Given the description of an element on the screen output the (x, y) to click on. 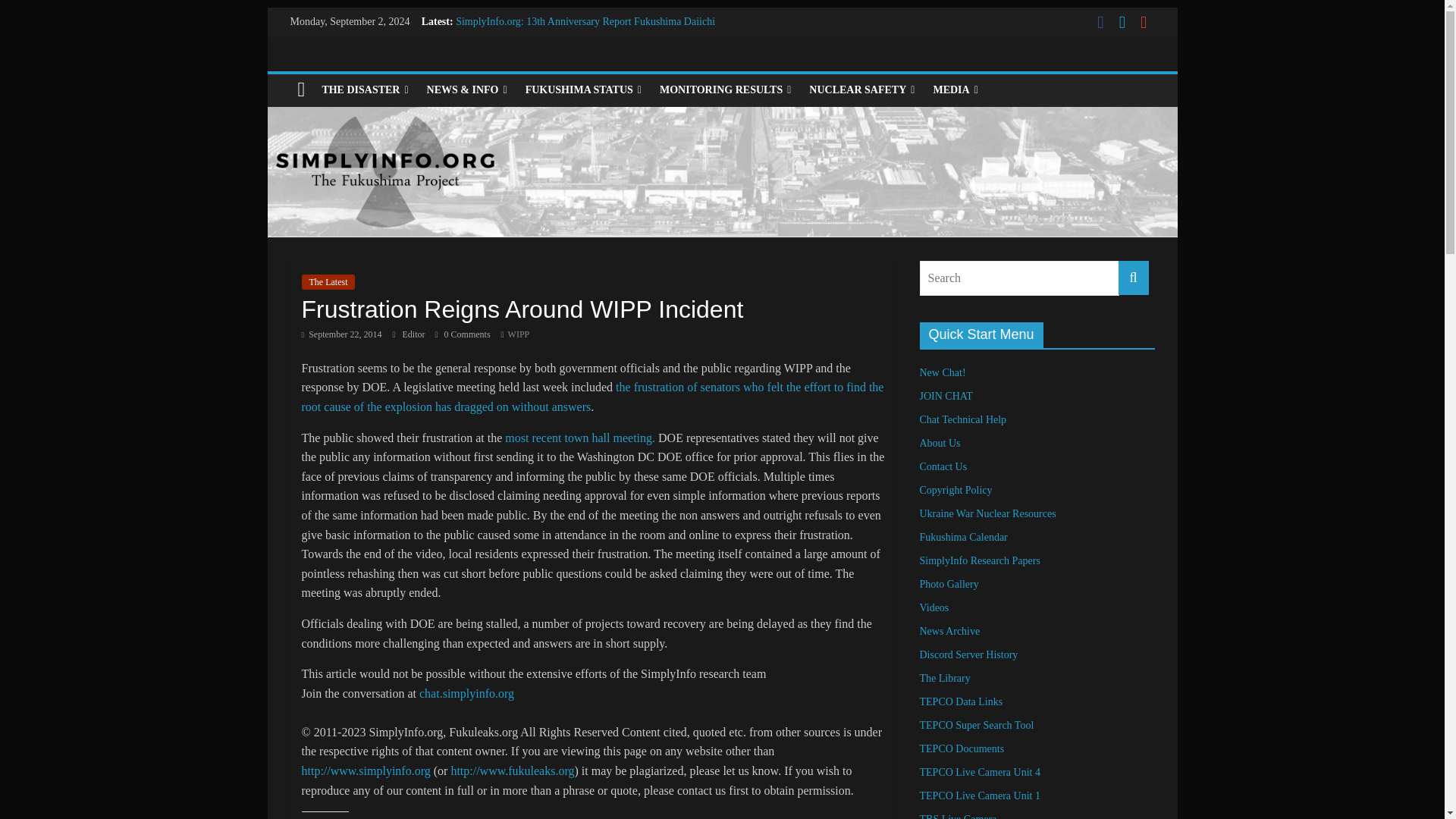
Workers Exposed To Radioactive Liquid At Daiichi (565, 89)
6:36 pm (341, 334)
SimplyInfo.org: 13th Anniversary Report Fukushima Daiichi (584, 21)
THE DISASTER (364, 90)
Editor (415, 334)
SimplyInfo.org: 13th Anniversary Report Fukushima Daiichi (584, 21)
SimplyInfo.org: Nuclear News Roundup 11.5.23 (558, 71)
SimplyInfo.org: Nuclear News Roundup 11.5.23 (558, 71)
Workers Exposed To Radioactive Liquid At Daiichi (565, 89)
